Given the description of an element on the screen output the (x, y) to click on. 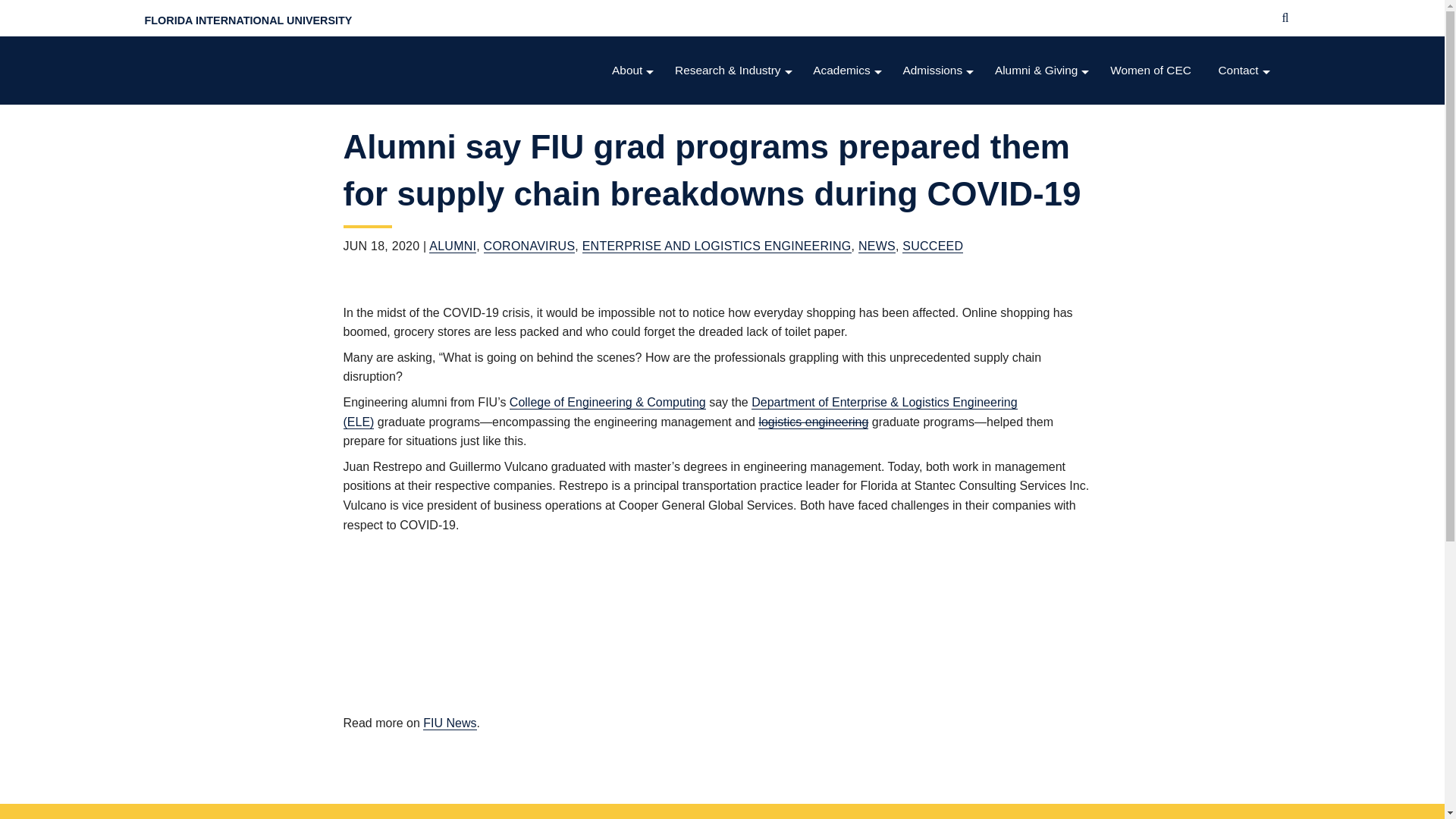
FIU College of Engineering and Computing (269, 70)
College Administration (633, 162)
Research News (734, 313)
Student Success and Empowerment (848, 253)
Annual Reports (633, 253)
Industry Partnerships (734, 223)
Apply Now (939, 100)
Highlighted Research Areas (734, 100)
Academics (848, 70)
Points of Pride (633, 131)
